Given the description of an element on the screen output the (x, y) to click on. 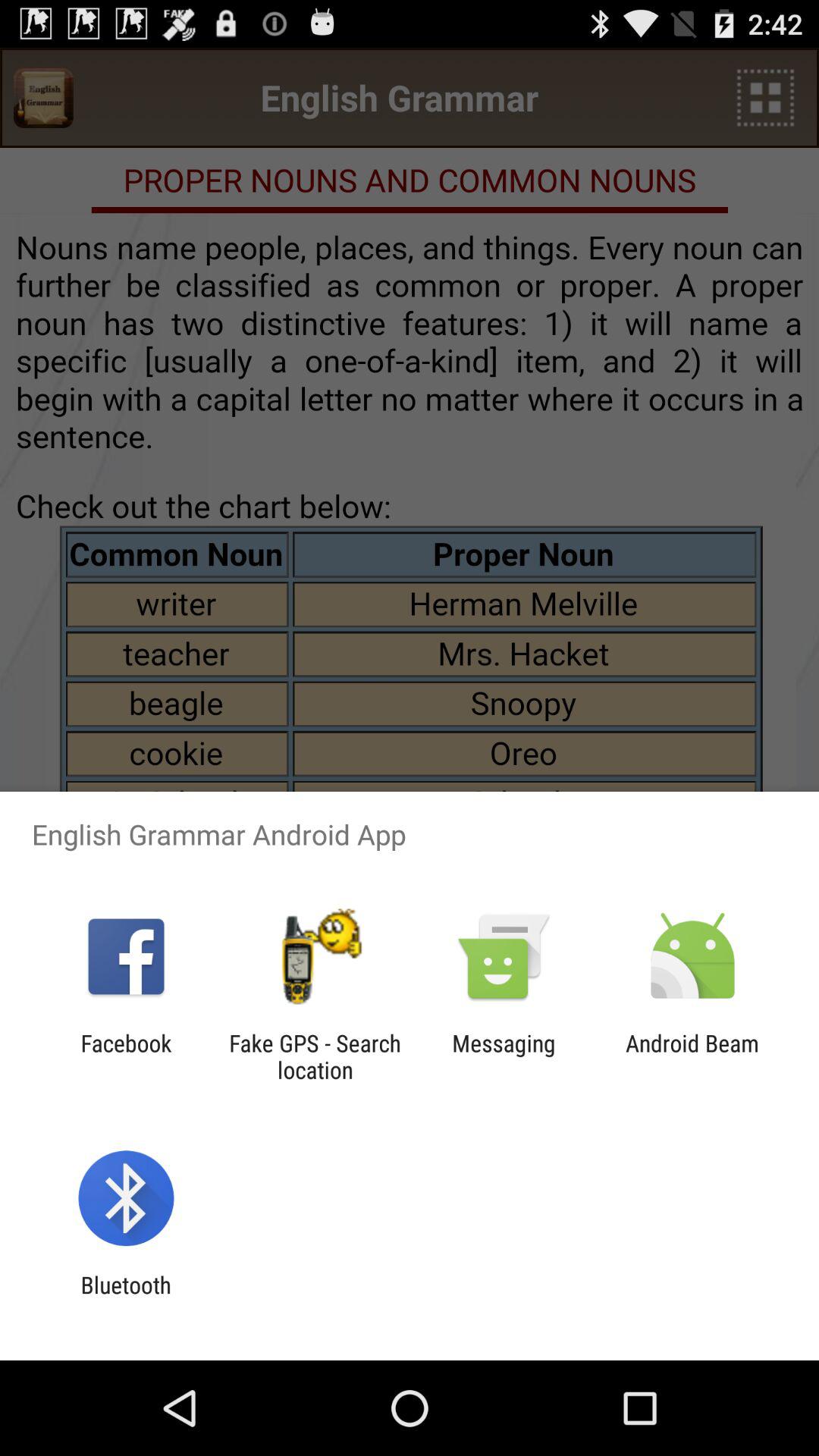
turn on item at the bottom right corner (692, 1056)
